Given the description of an element on the screen output the (x, y) to click on. 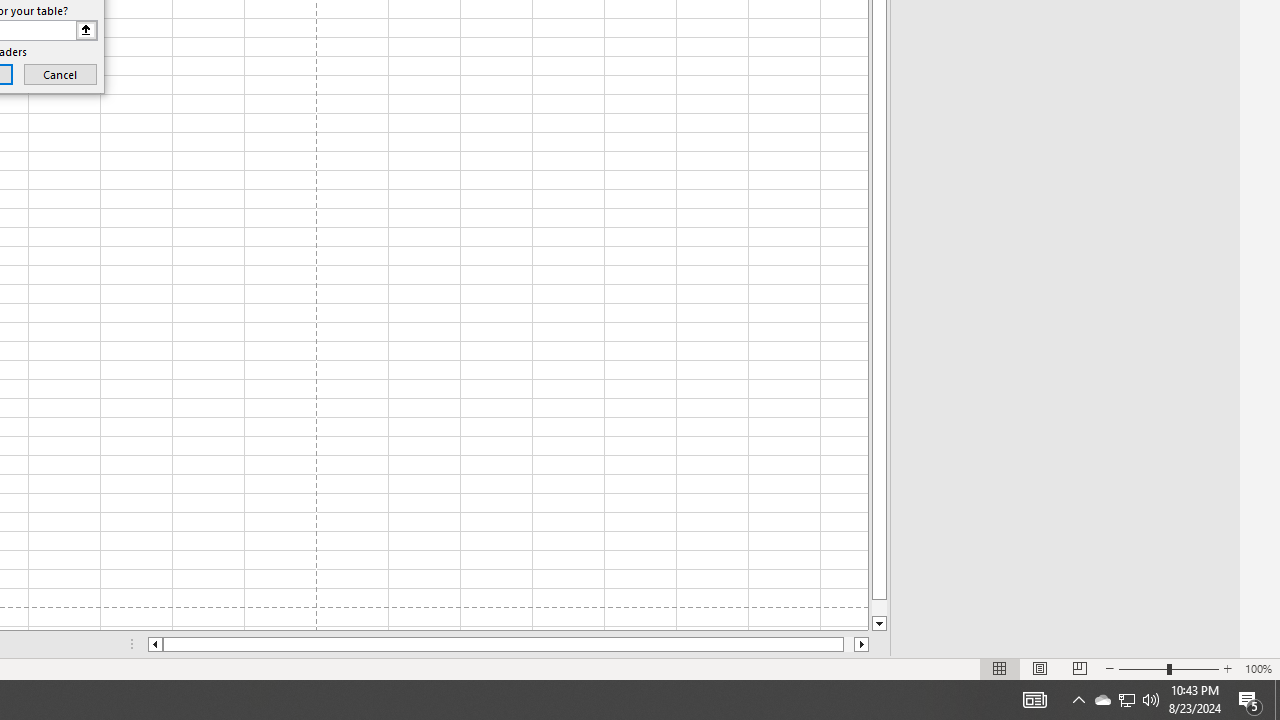
Page down (879, 607)
Page right (848, 644)
